Given the description of an element on the screen output the (x, y) to click on. 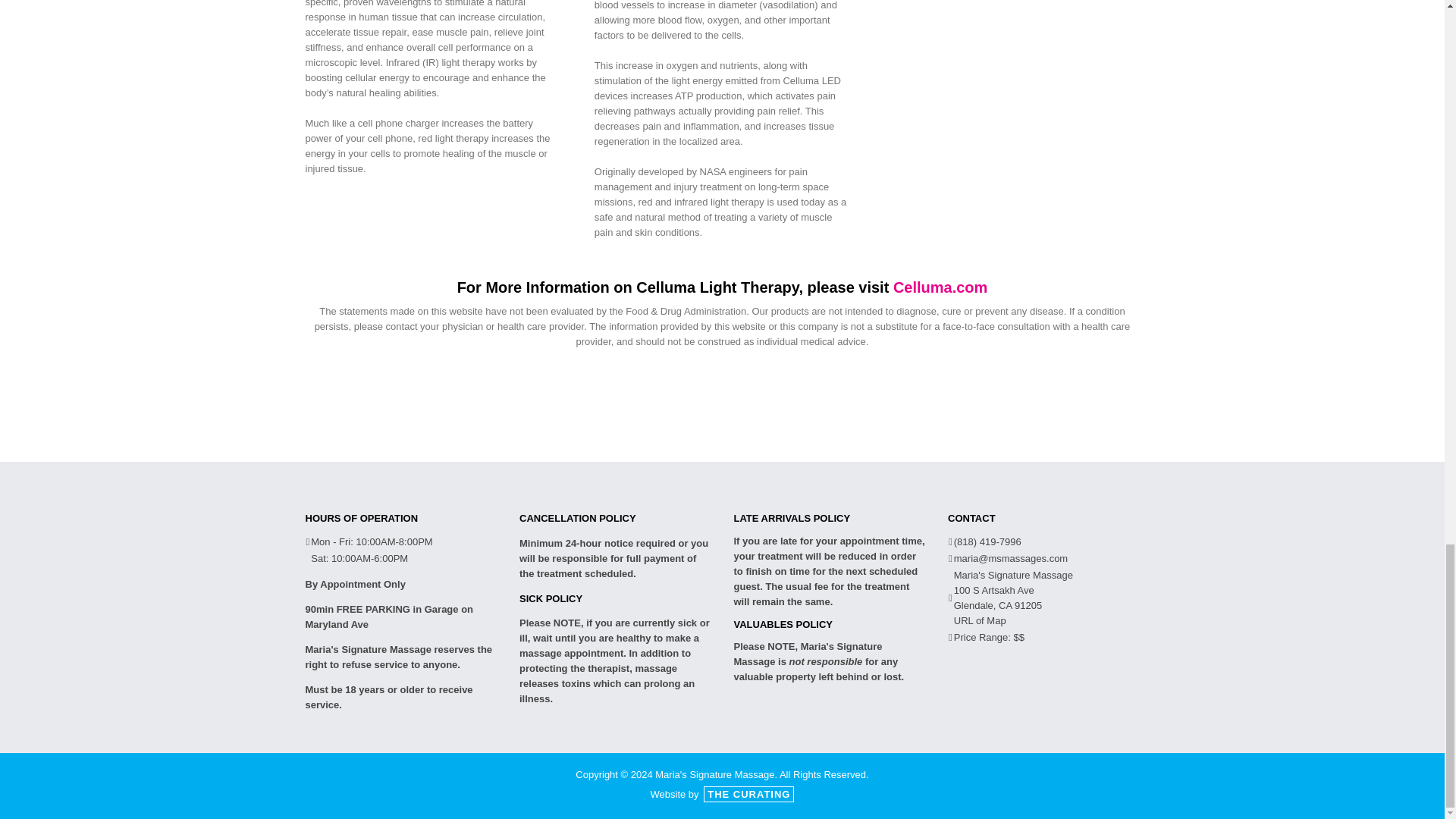
THE CURATING (748, 794)
Celluma.com (940, 287)
URL of Map (979, 620)
